Given the description of an element on the screen output the (x, y) to click on. 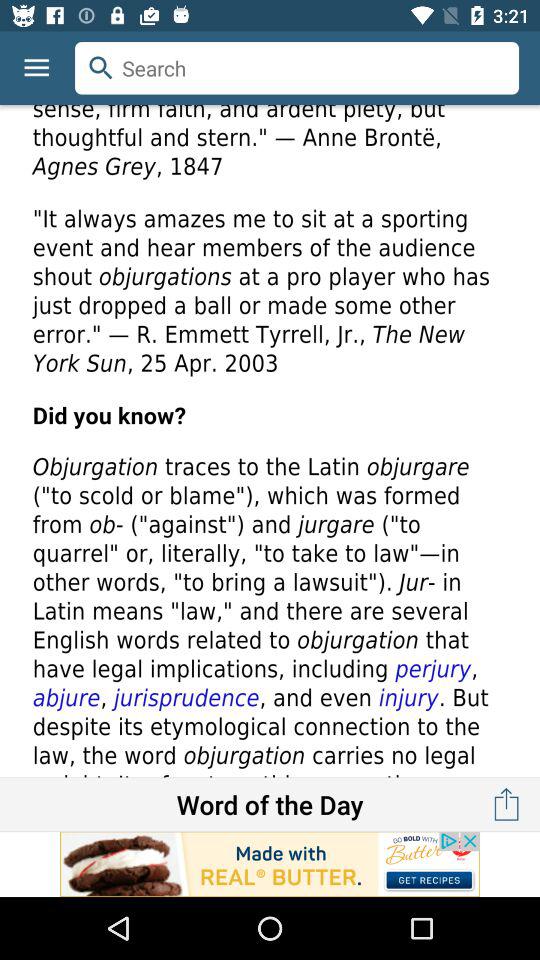
search (297, 68)
